Given the description of an element on the screen output the (x, y) to click on. 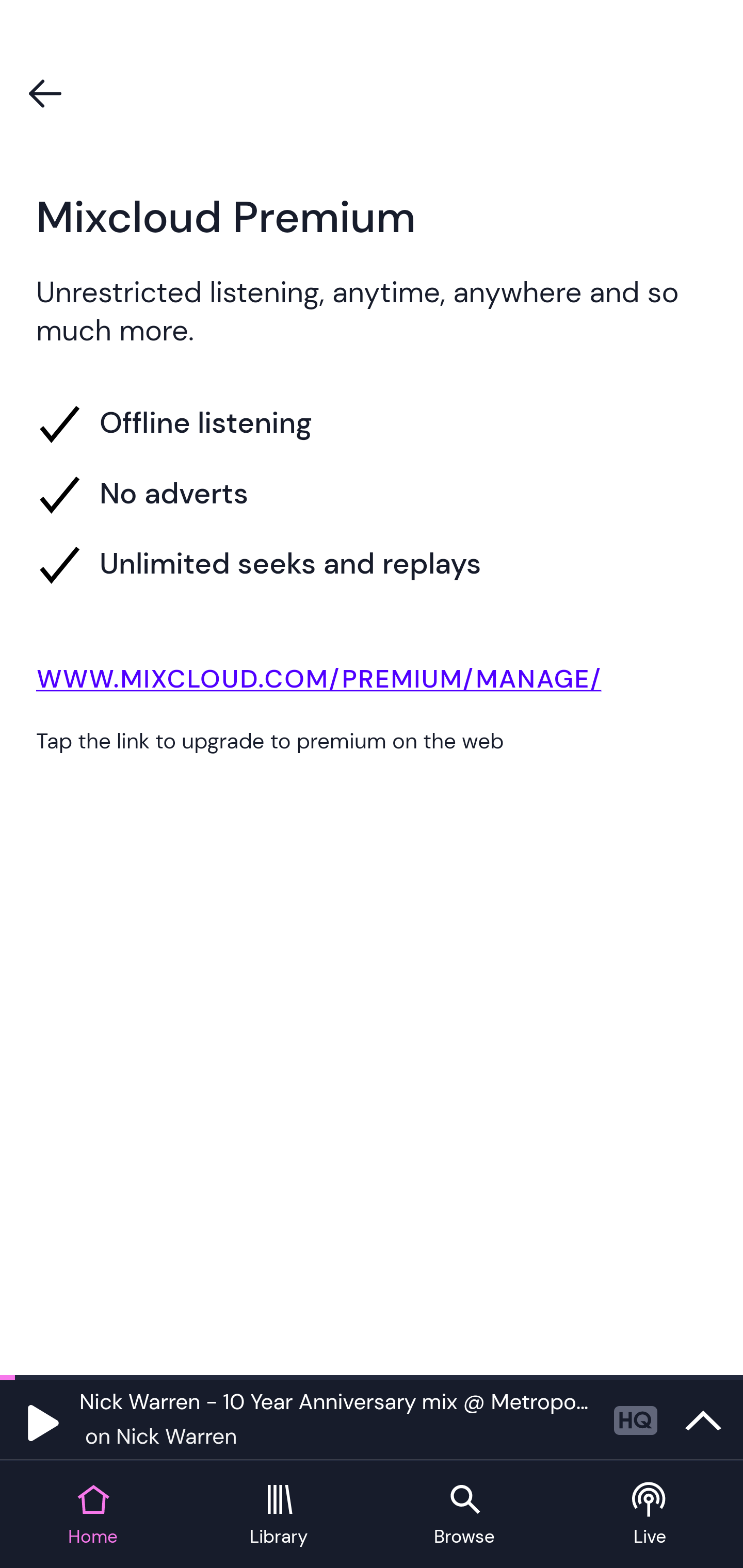
WWW.MIXCLOUD.COM/PREMIUM/MANAGE/ (371, 682)
Home tab Home (92, 1515)
Library tab Library (278, 1515)
Browse tab Browse (464, 1515)
Live tab Live (650, 1515)
